Given the description of an element on the screen output the (x, y) to click on. 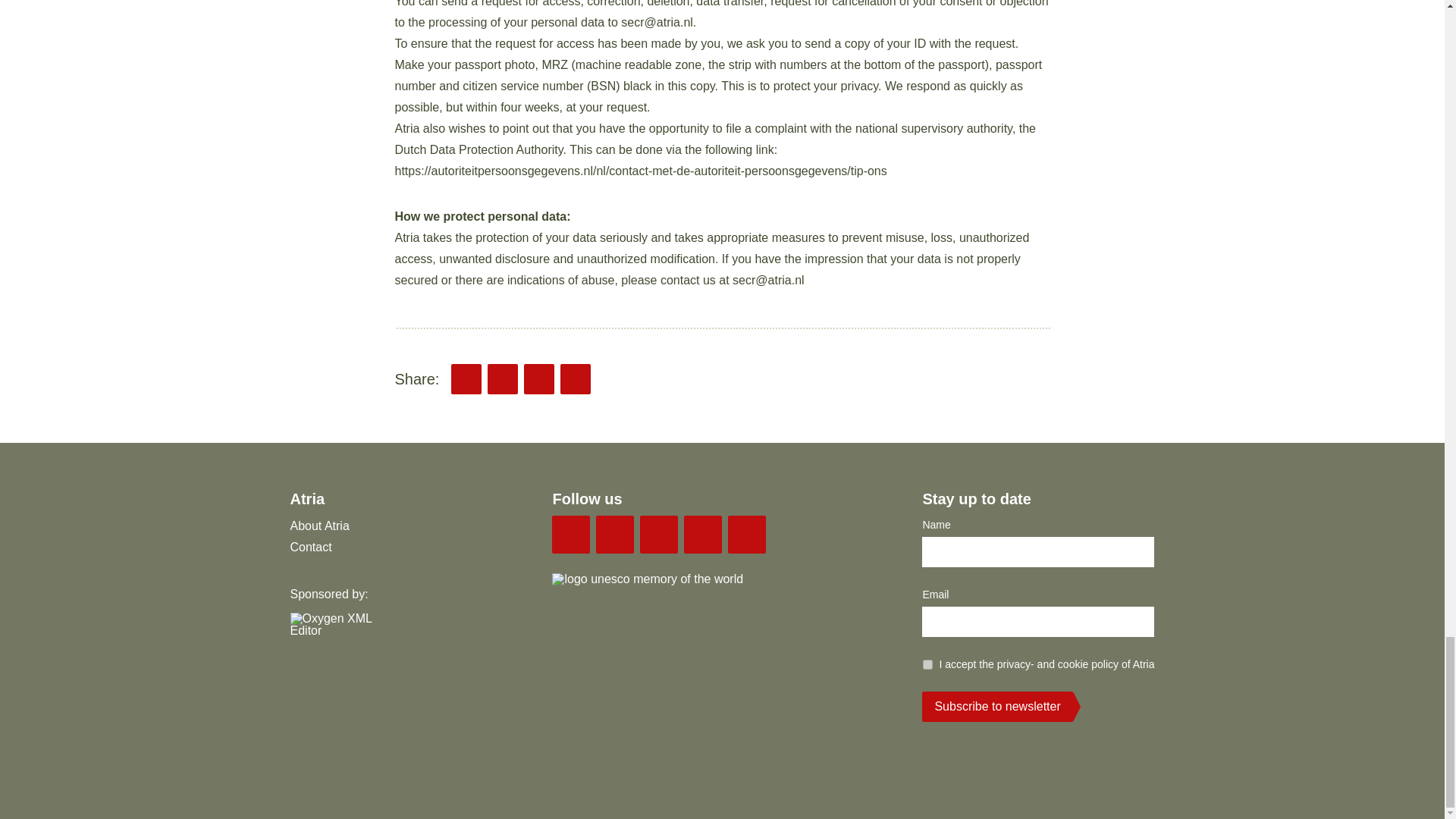
Email (466, 378)
Twitter (502, 378)
Oxygen XML Editor (342, 636)
LinkedIn (539, 378)
on (928, 664)
Facebook (575, 378)
